Given the description of an element on the screen output the (x, y) to click on. 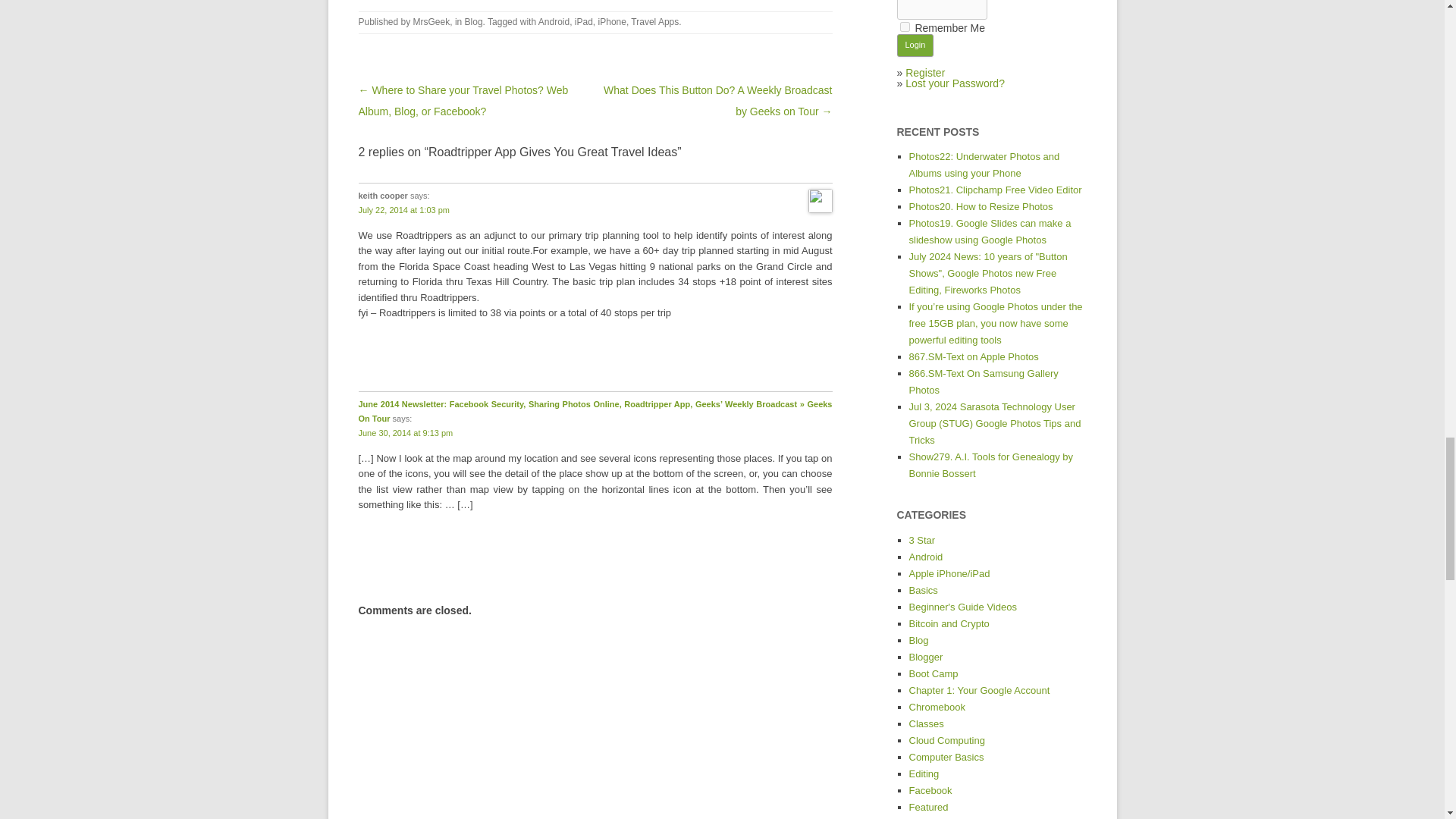
forever (903, 26)
Login (914, 45)
